Given the description of an element on the screen output the (x, y) to click on. 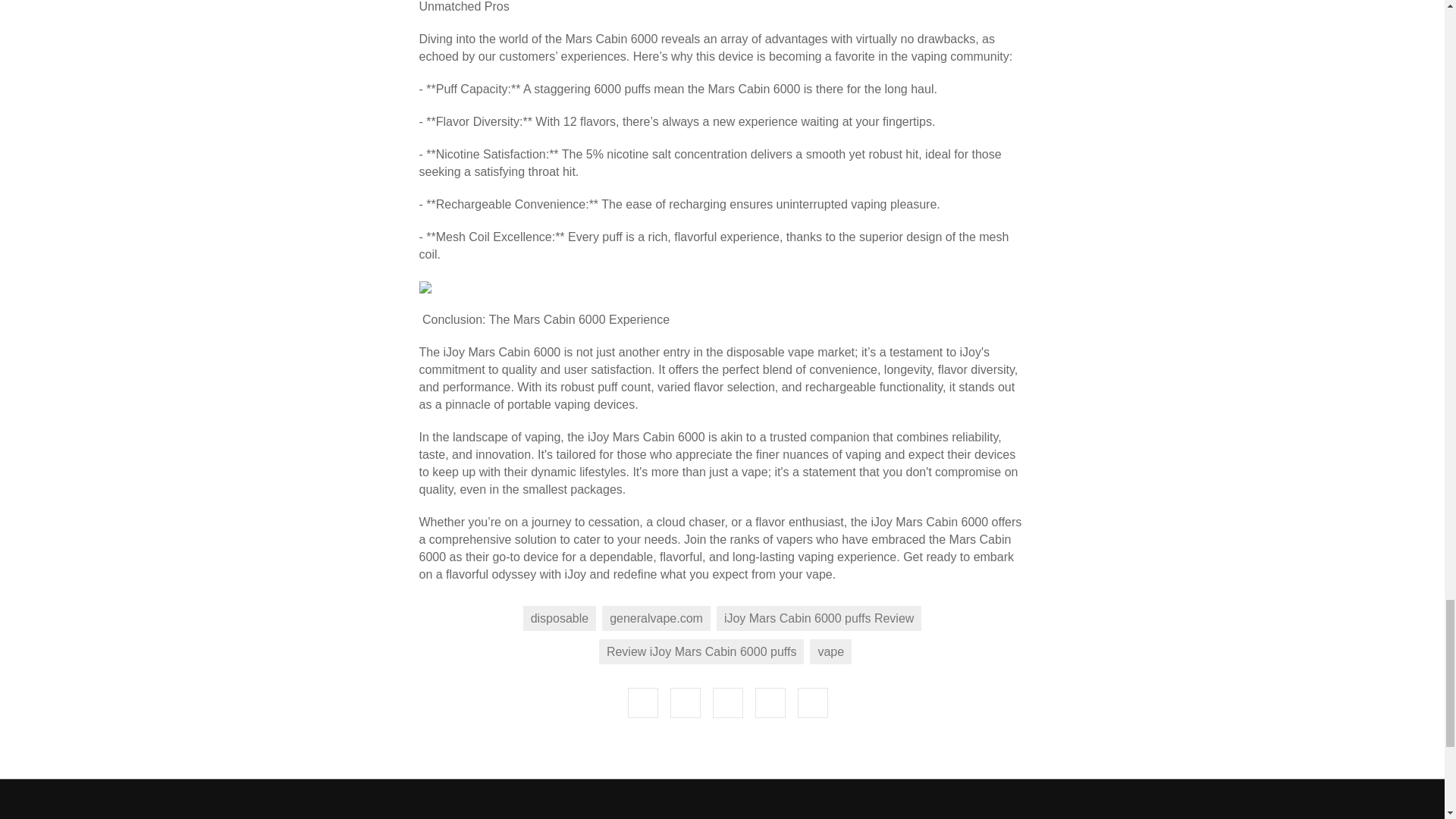
Pinterest (812, 368)
Subscribe (1146, 656)
Facebook (642, 368)
Email (684, 368)
Print (727, 368)
Twitter (770, 368)
